Given the description of an element on the screen output the (x, y) to click on. 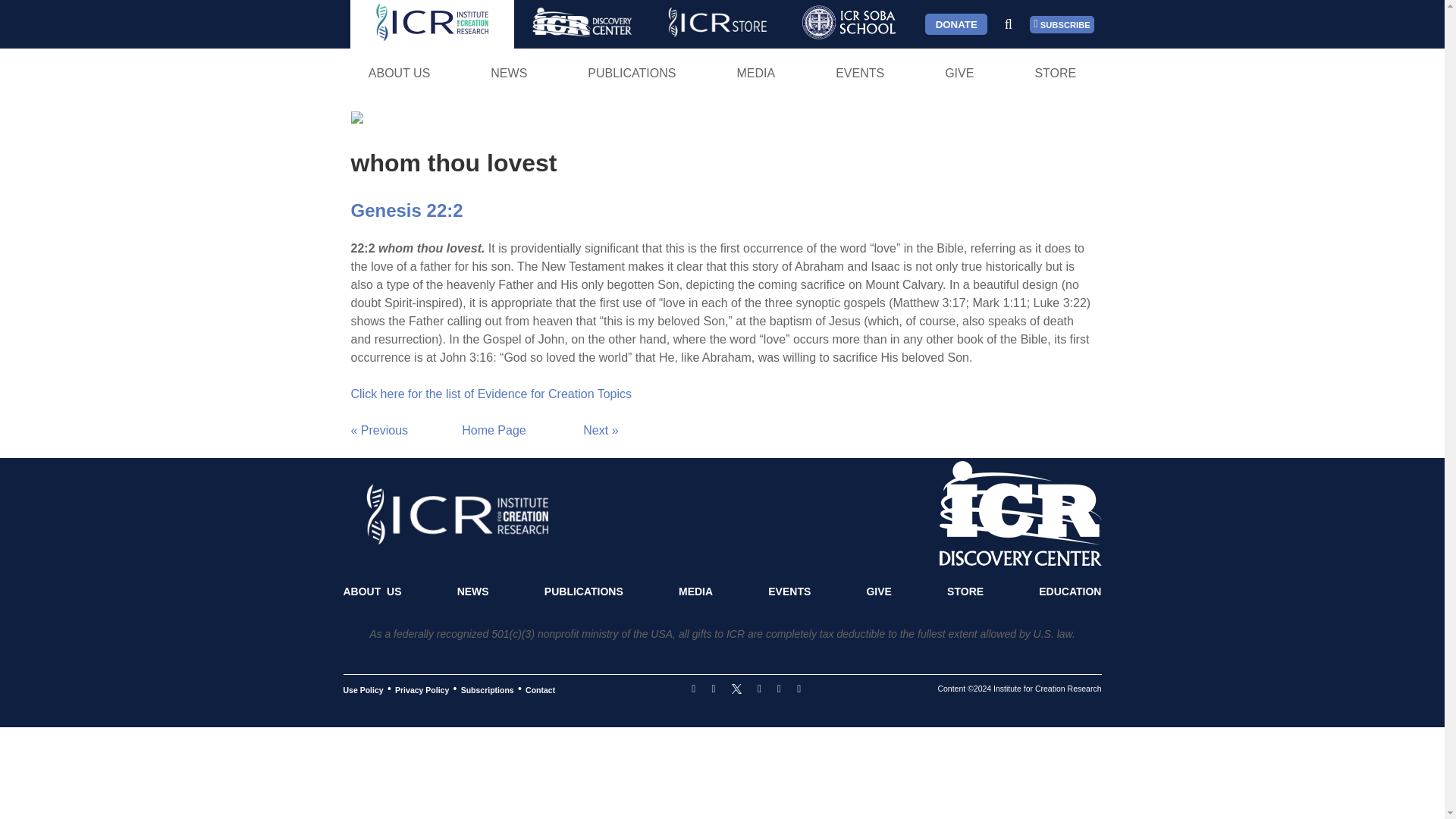
ABOUT US (399, 73)
NEWS (508, 73)
PUBLICATIONS (631, 73)
DONATE (955, 24)
SUBSCRIBE (1061, 24)
